Given the description of an element on the screen output the (x, y) to click on. 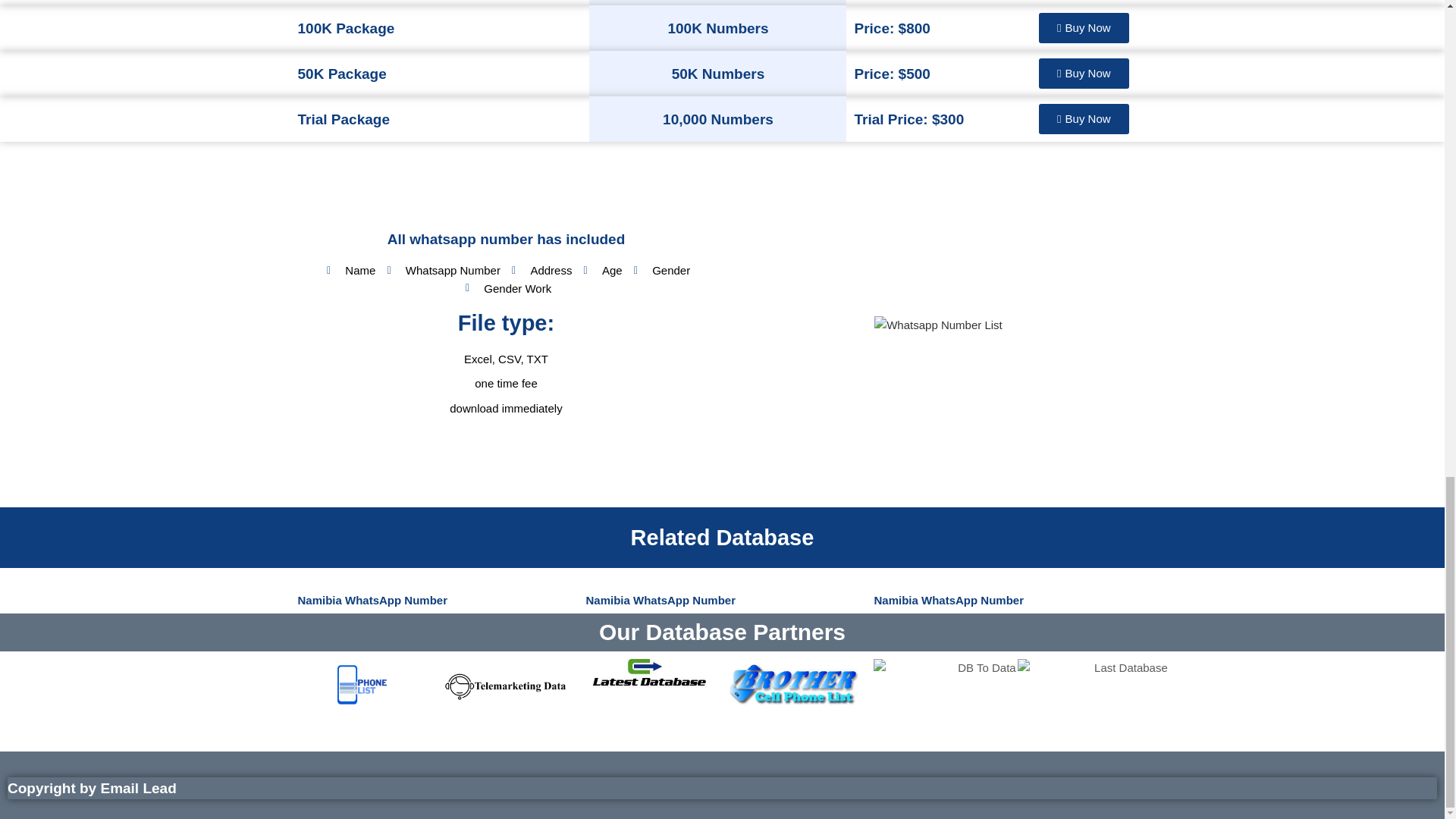
Namibia WhatsApp Number (660, 599)
Namibia WhatsApp Number (948, 599)
Buy Now (1084, 73)
Buy Now (1084, 28)
Email Lead (138, 788)
Buy Now (1084, 119)
Namibia WhatsApp Number (371, 599)
